Given the description of an element on the screen output the (x, y) to click on. 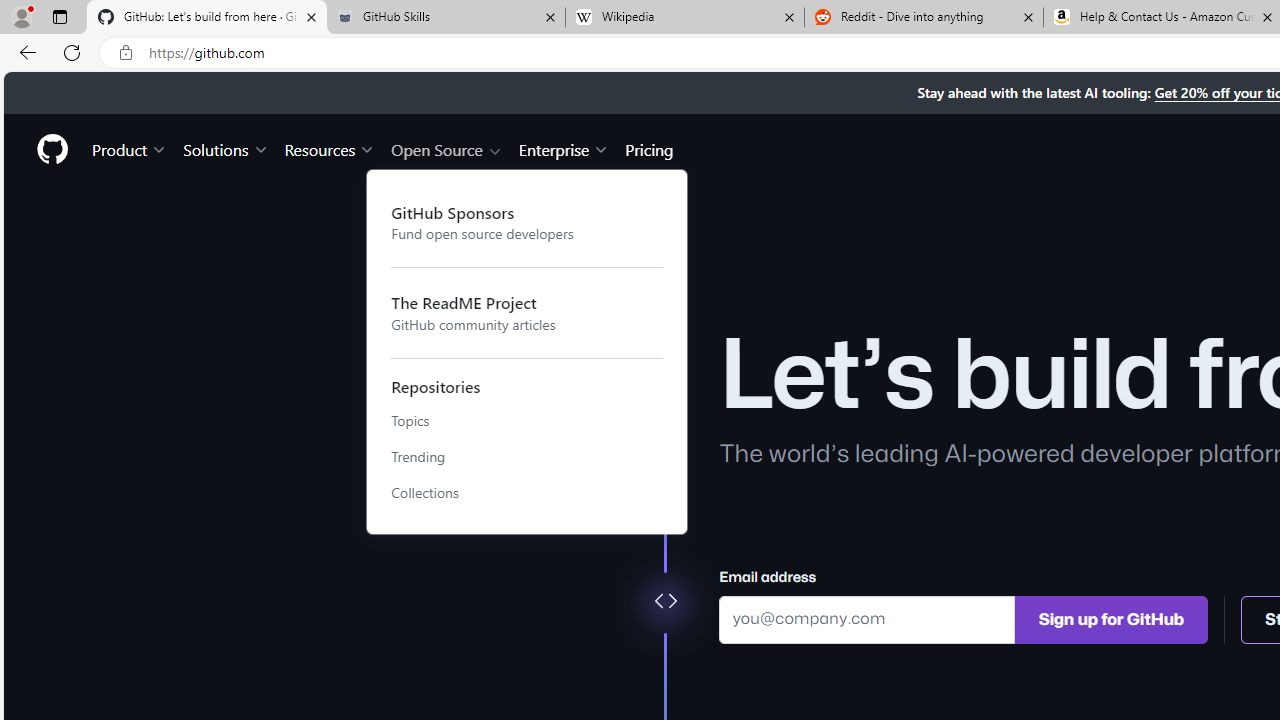
Trending (527, 457)
Product (130, 148)
Wikipedia (684, 17)
The ReadME ProjectGitHub community articles (527, 312)
Enterprise (563, 148)
